Given the description of an element on the screen output the (x, y) to click on. 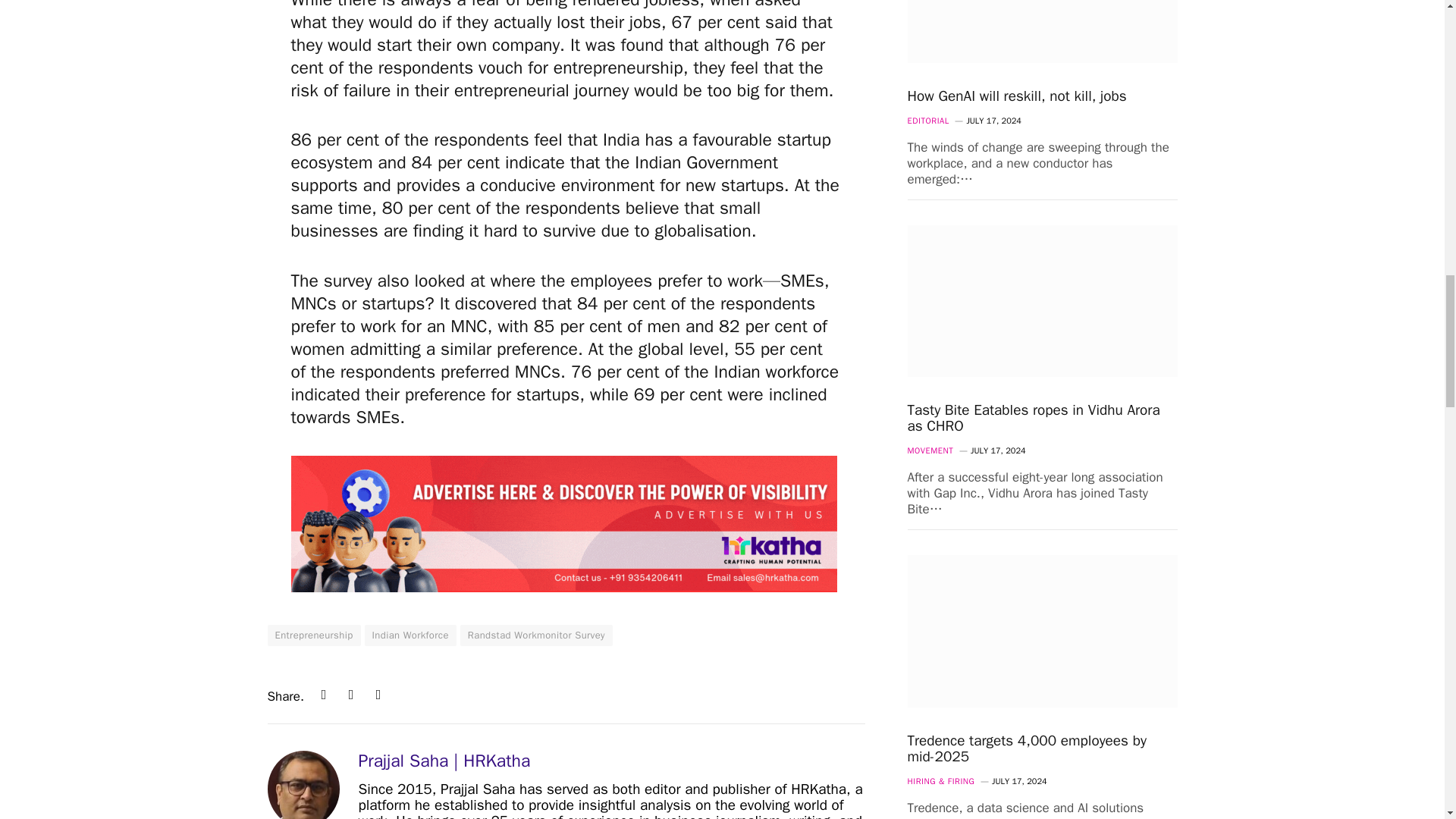
Share on LinkedIn (323, 694)
